Given the description of an element on the screen output the (x, y) to click on. 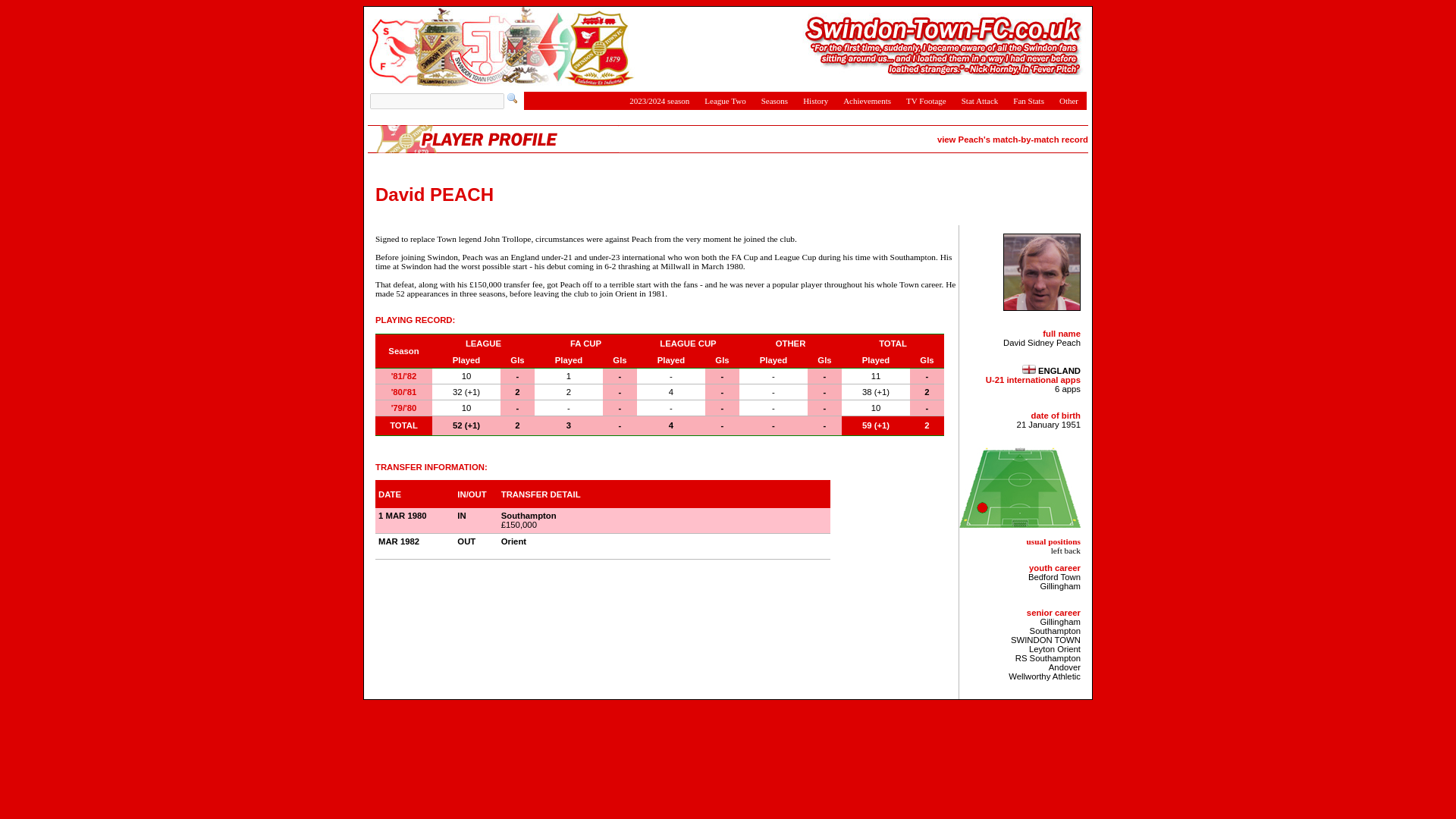
Seasons (774, 100)
League Two (724, 100)
History (814, 100)
